Given the description of an element on the screen output the (x, y) to click on. 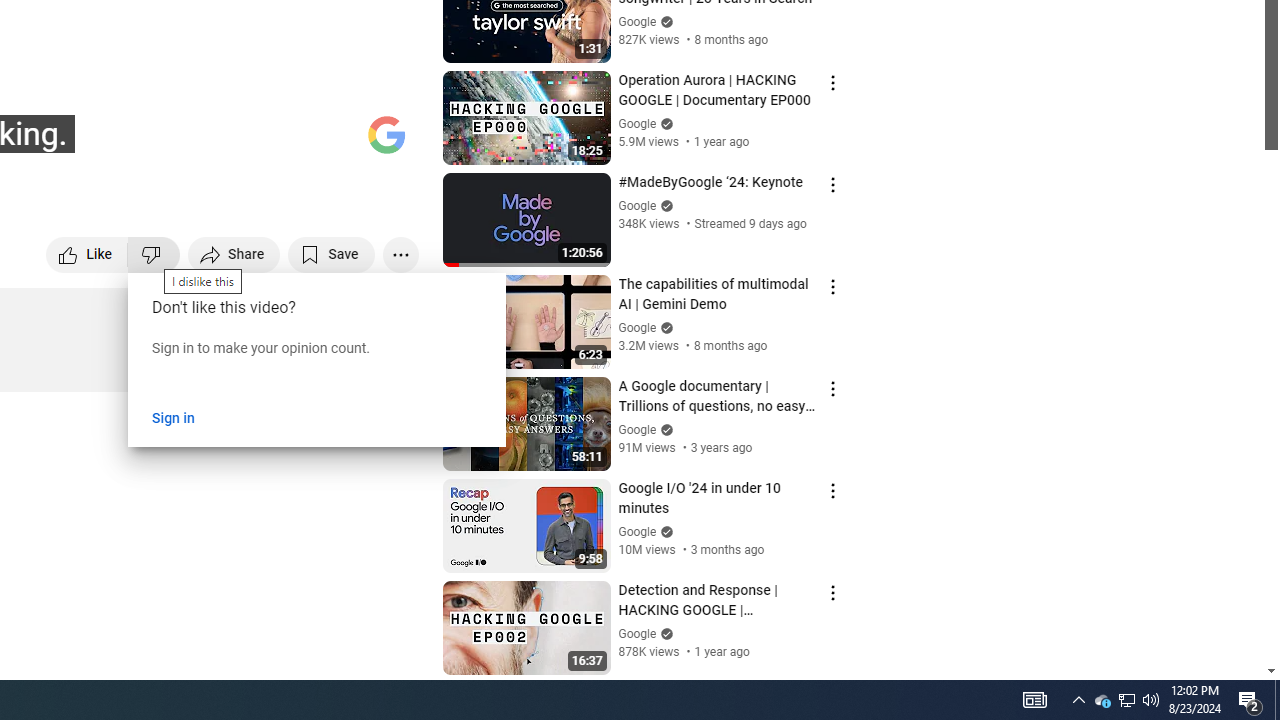
Theater mode (t) (333, 142)
Dislike this video (154, 254)
Channel watermark (386, 134)
Full screen (f) (382, 142)
Subtitles/closed captions unavailable (190, 142)
Channel watermark (386, 134)
Miniplayer (i) (286, 142)
